Given the description of an element on the screen output the (x, y) to click on. 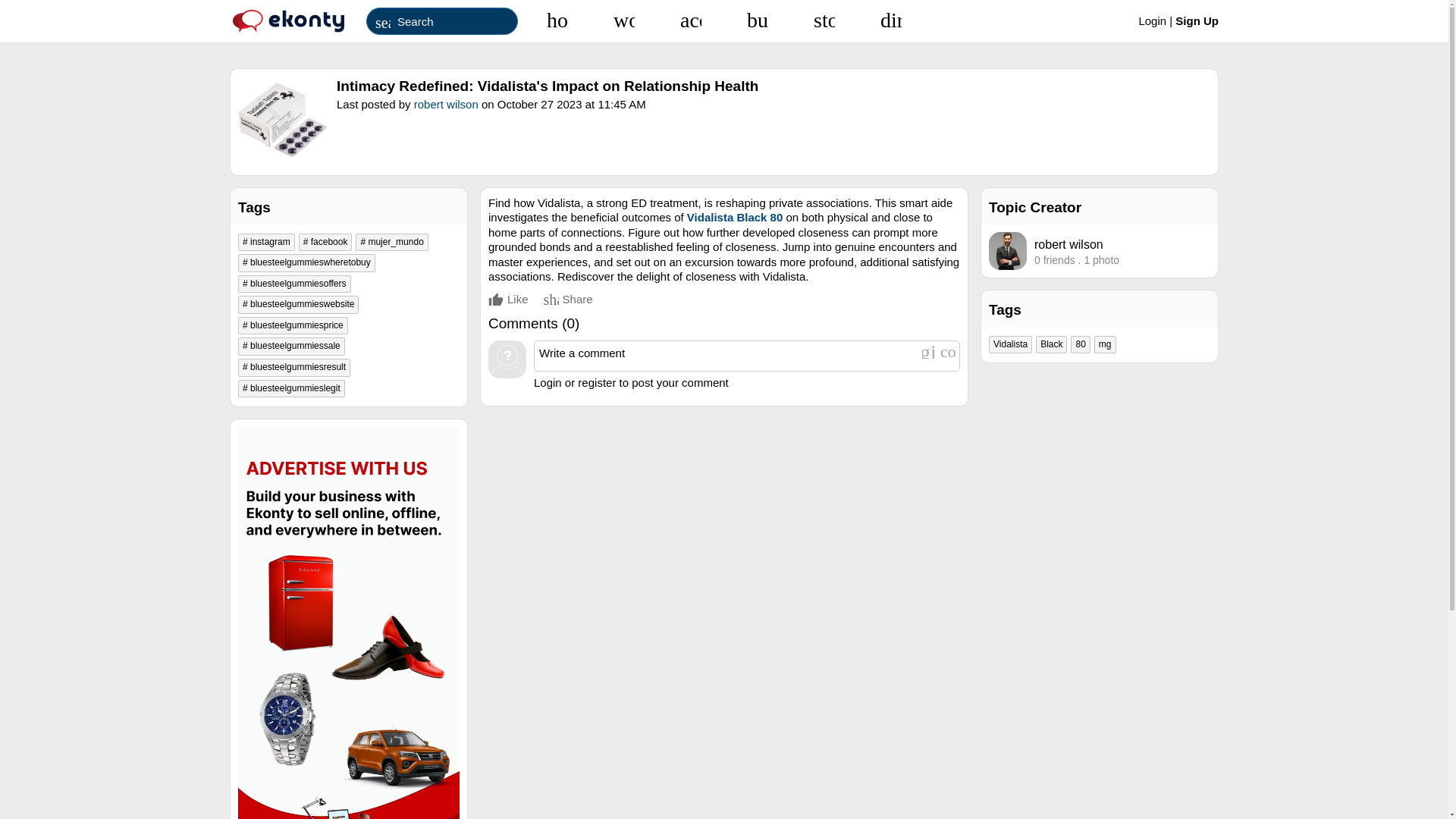
Login (1153, 20)
Last posted by robert wilson on October 27 2023 at 11:45 AM (772, 103)
Vidalista (1010, 343)
robert wilson (1068, 244)
work (624, 20)
80 (1079, 343)
Sign Up (1196, 20)
robert wilson (446, 103)
Black (1051, 343)
storefront (823, 20)
Sticker (947, 350)
home (557, 20)
business (756, 20)
